Given the description of an element on the screen output the (x, y) to click on. 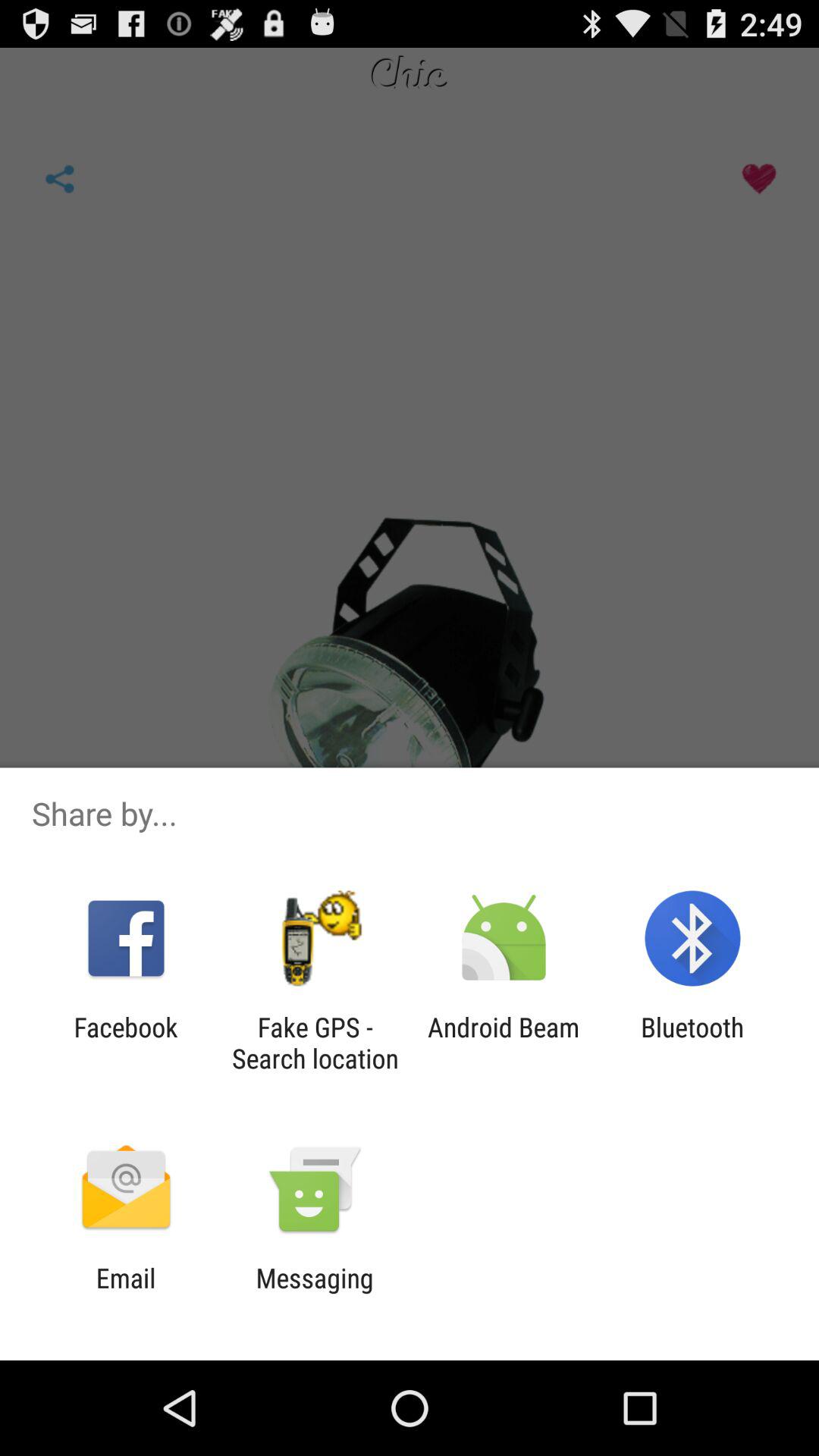
choose the email app (125, 1293)
